Given the description of an element on the screen output the (x, y) to click on. 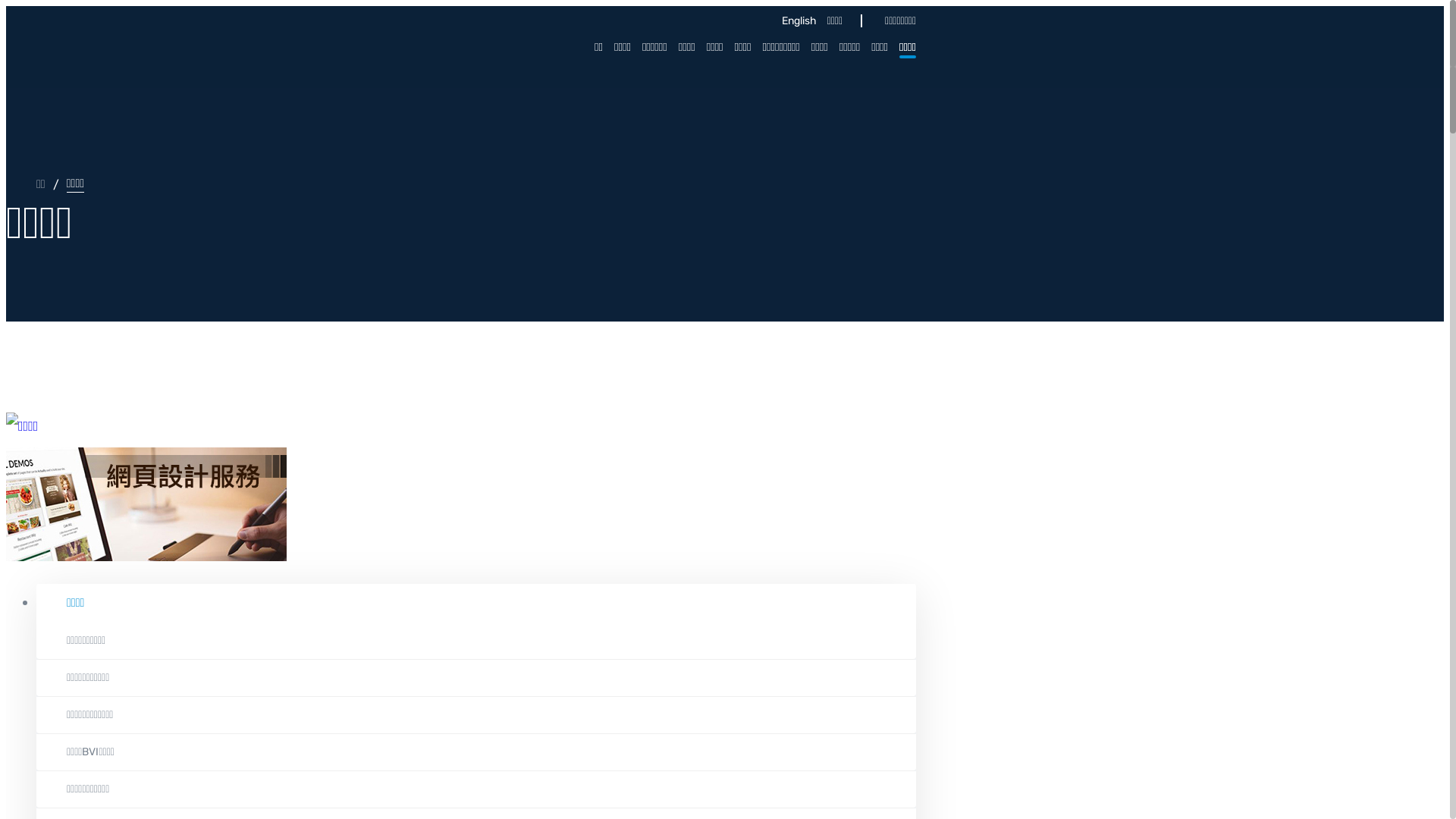
English Element type: text (795, 20)
